Given the description of an element on the screen output the (x, y) to click on. 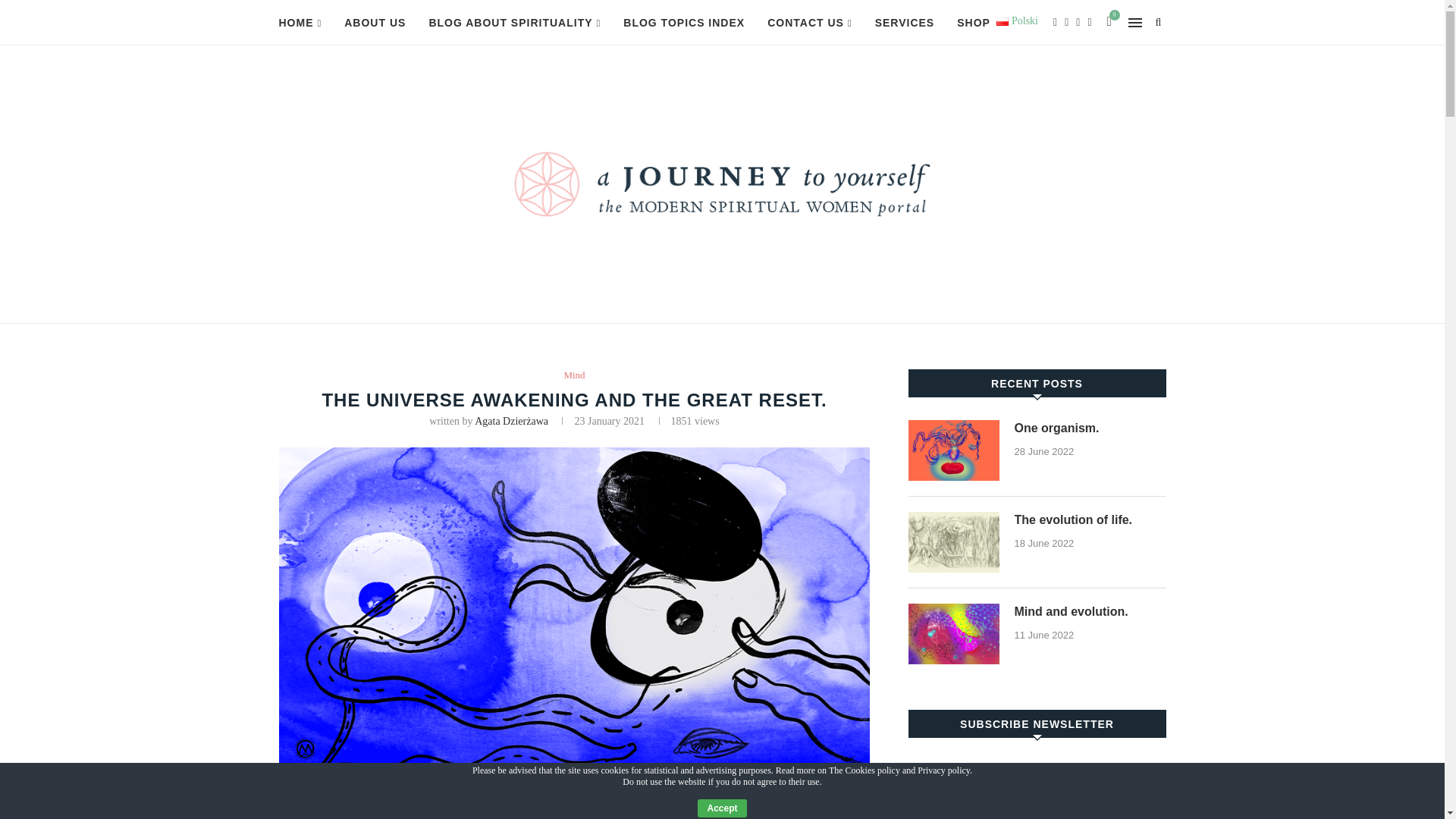
View your shopping cart (1108, 22)
ABOUT US (374, 22)
BLOG ABOUT SPIRITUALITY (513, 22)
HOME (300, 22)
BLOG TOPICS INDEX (683, 22)
